Given the description of an element on the screen output the (x, y) to click on. 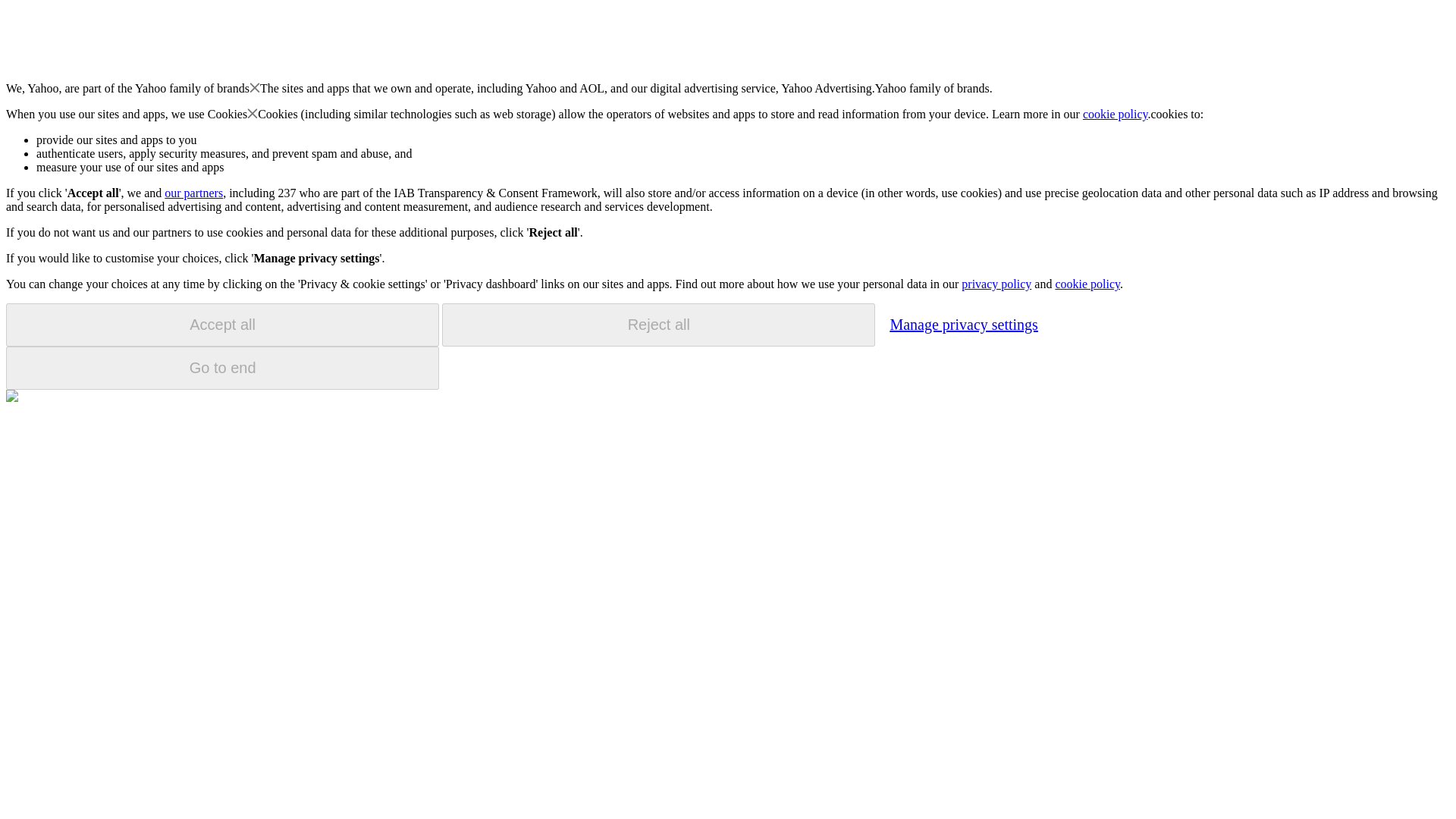
cookie policy (1086, 283)
our partners (193, 192)
Go to end (222, 367)
Manage privacy settings (963, 323)
Reject all (658, 324)
cookie policy (1115, 113)
Accept all (222, 324)
privacy policy (995, 283)
